Given the description of an element on the screen output the (x, y) to click on. 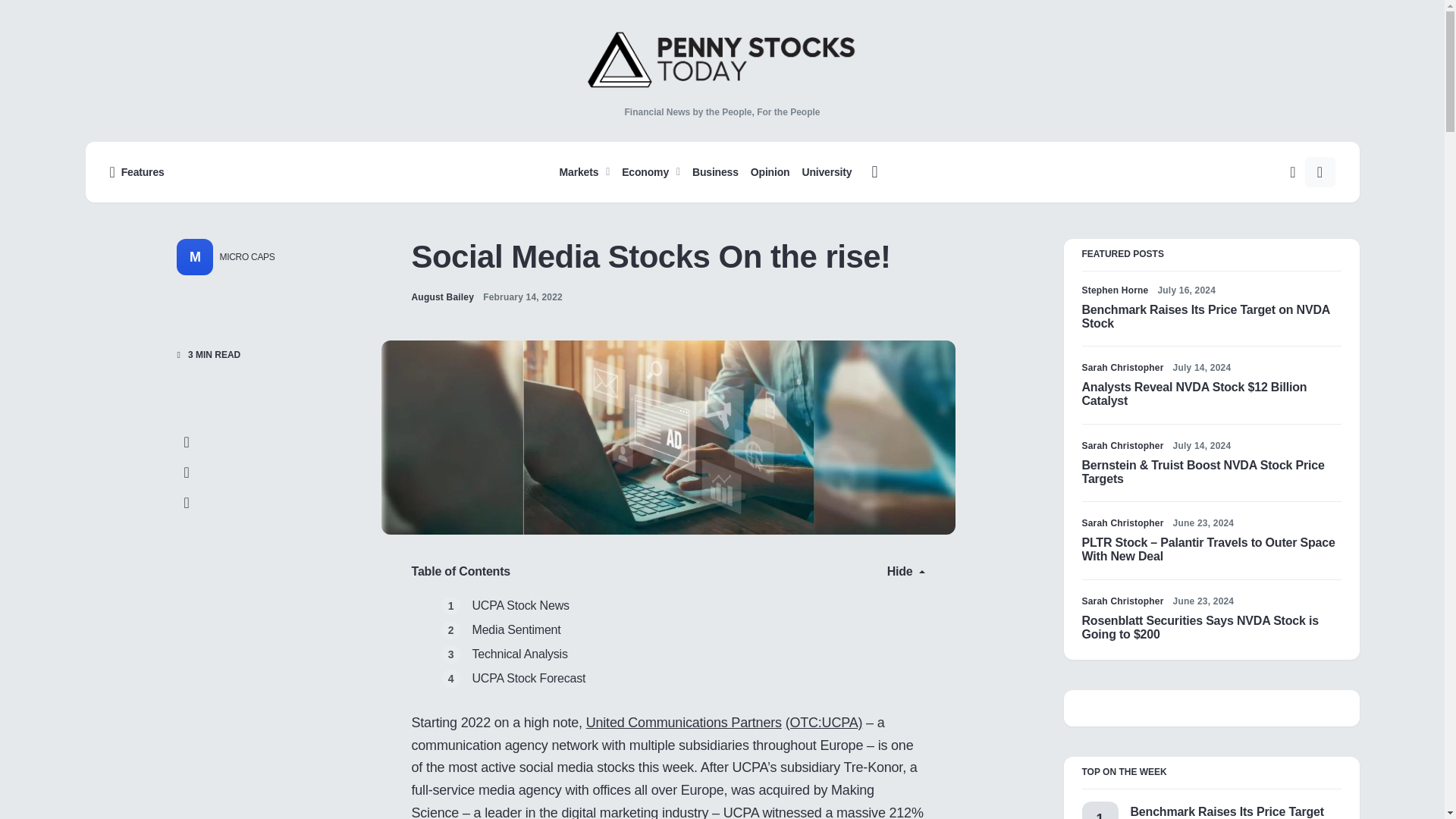
View all posts by Stephen Horne (1114, 290)
Business (714, 171)
View all posts by August Bailey (442, 296)
Markets (587, 171)
Economy (650, 171)
View all posts by Sarah Christopher (1122, 445)
View all posts by Sarah Christopher (1122, 367)
View all posts by Sarah Christopher (1122, 601)
View all posts by Sarah Christopher (1122, 522)
